Given the description of an element on the screen output the (x, y) to click on. 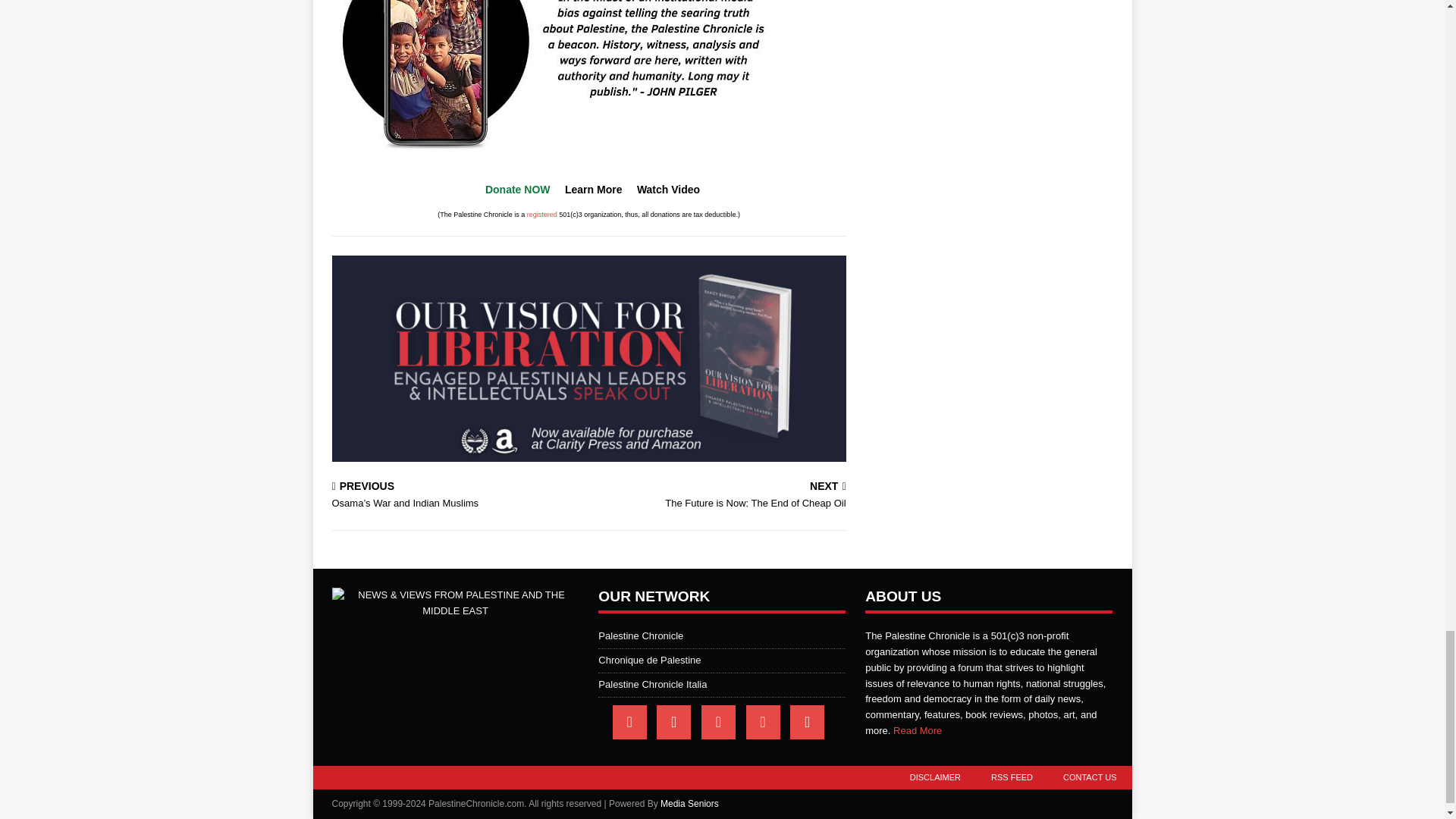
Learn More (592, 189)
Donate NOW (517, 189)
registered (542, 214)
Watch Video (668, 189)
